Given the description of an element on the screen output the (x, y) to click on. 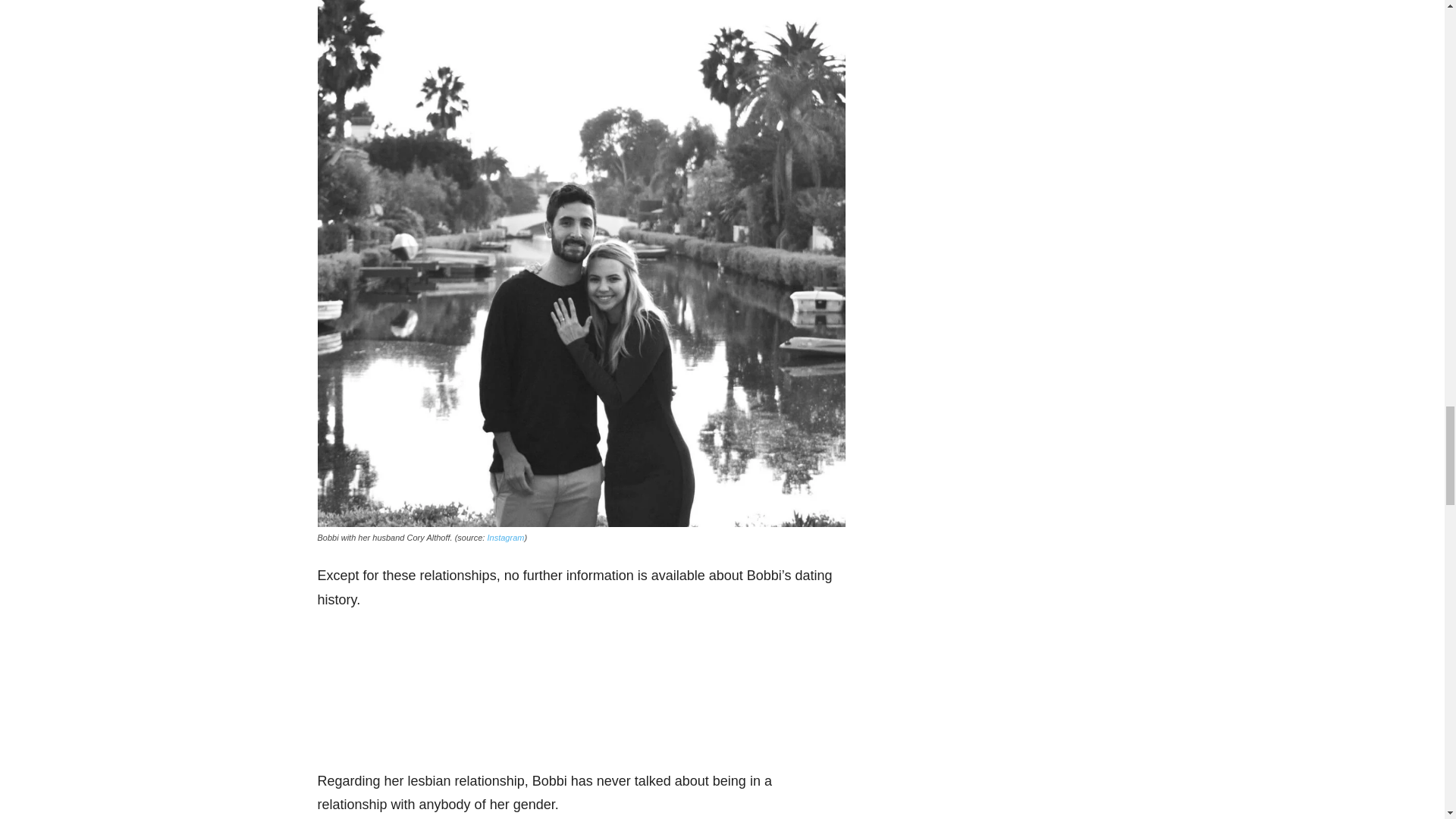
Instagram (505, 537)
